Given the description of an element on the screen output the (x, y) to click on. 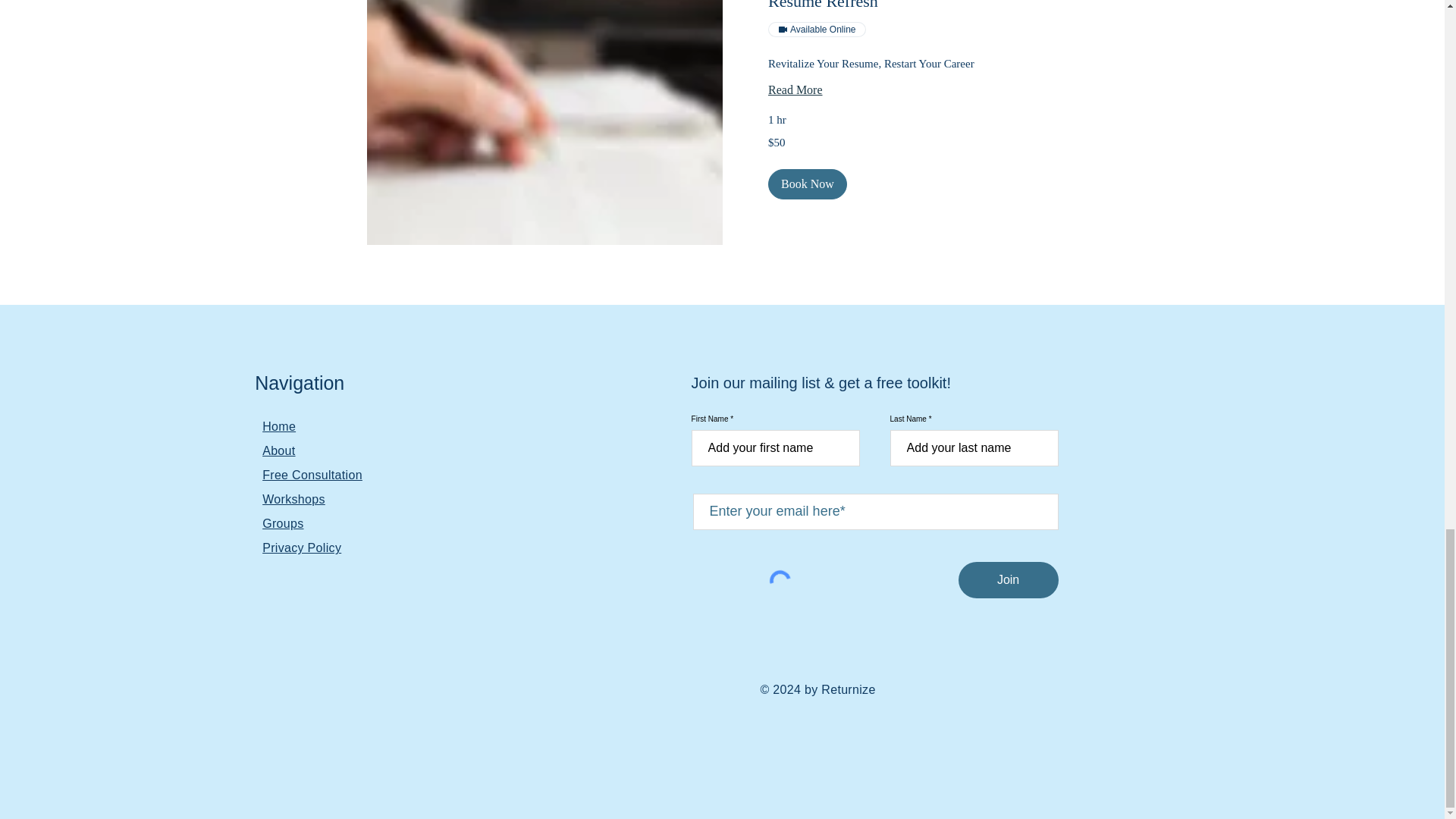
Read More (899, 90)
Privacy Policy (301, 547)
Join (1008, 579)
About (278, 450)
Free Consultation (312, 474)
Book Now (806, 183)
Groups (282, 522)
Workshops (293, 499)
Resume Refresh (899, 6)
Home (278, 426)
